Given the description of an element on the screen output the (x, y) to click on. 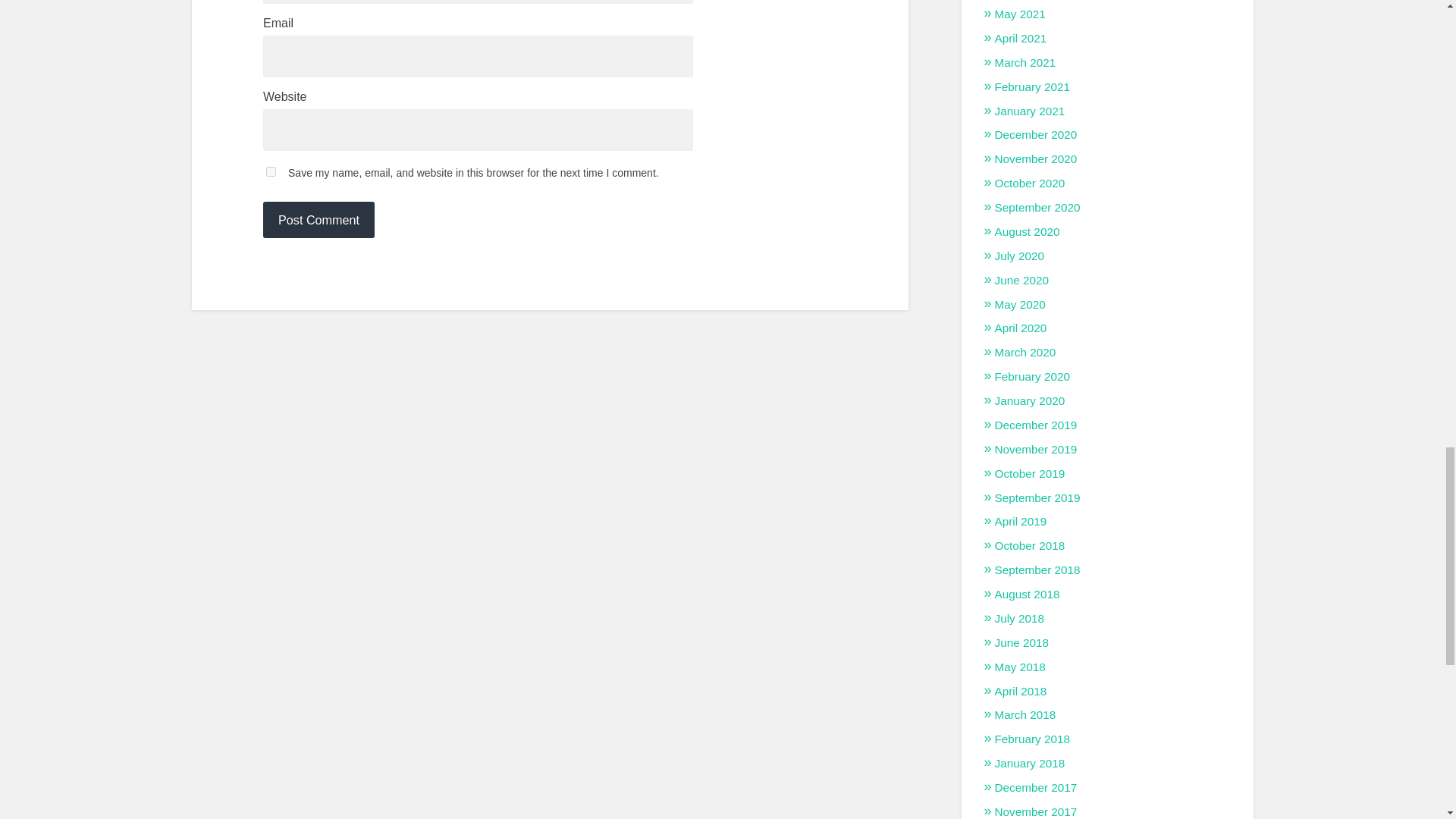
yes (271, 171)
Post Comment (318, 219)
Post Comment (318, 219)
